Given the description of an element on the screen output the (x, y) to click on. 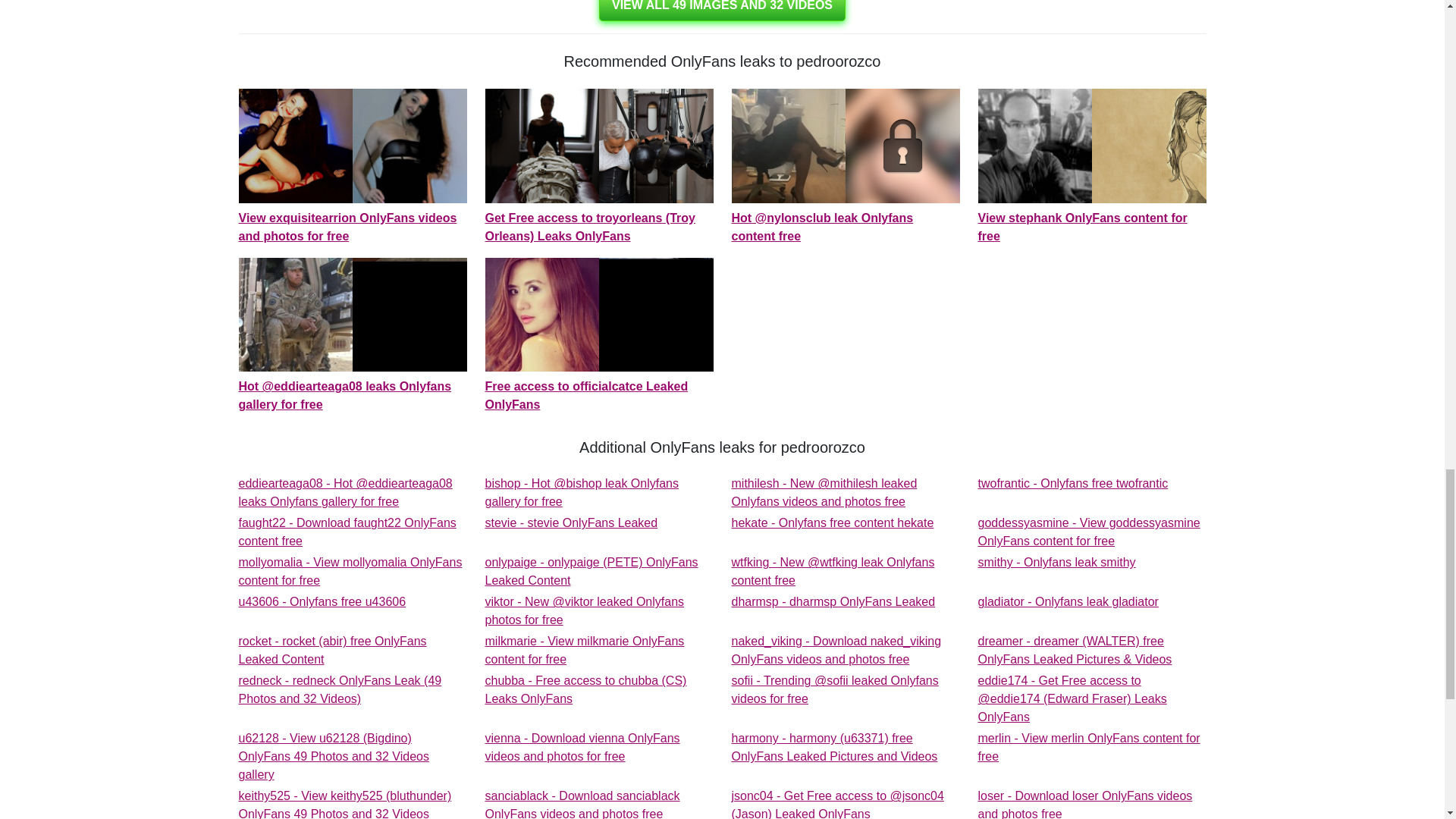
smithy - Onlyfans leak smithy (1056, 562)
VIEW ALL 49 IMAGES AND 32 VIDEOS (1056, 562)
u43606 - Onlyfans free u43606 (571, 522)
mollyomalia - View mollyomalia OnlyFans content for free (721, 10)
View exquisitearrion OnlyFans videos and photos for free (346, 531)
